Given the description of an element on the screen output the (x, y) to click on. 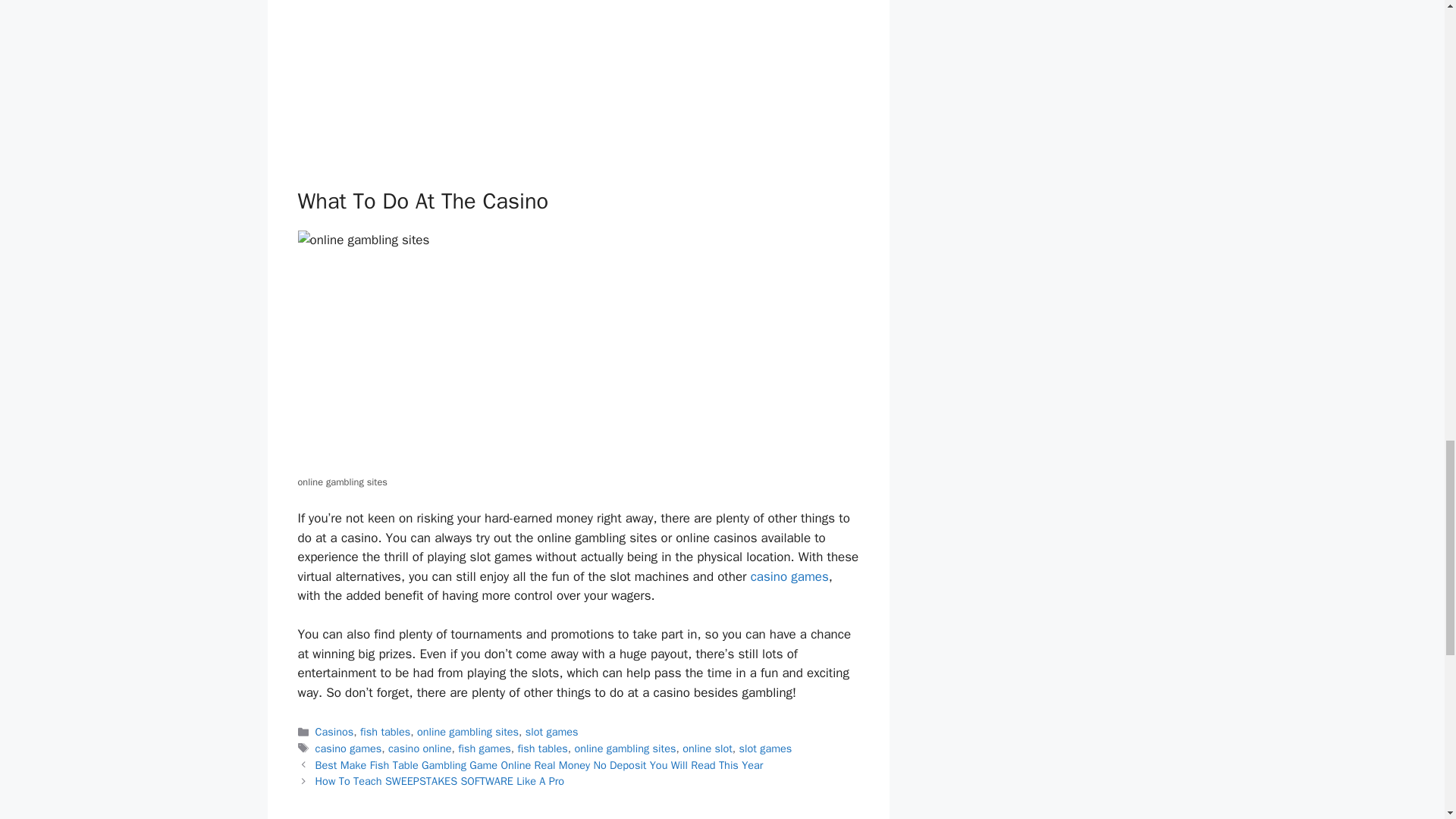
casino online (419, 748)
fish tables (541, 748)
online slot (707, 748)
Casinos (334, 731)
Previous (538, 765)
casino games (789, 576)
fish games (484, 748)
Chinese New Year  I  Orion Stars (578, 81)
Next (439, 780)
slot games (765, 748)
casino games (348, 748)
online gambling sites (624, 748)
online gambling sites (467, 731)
slot games (551, 731)
